Given the description of an element on the screen output the (x, y) to click on. 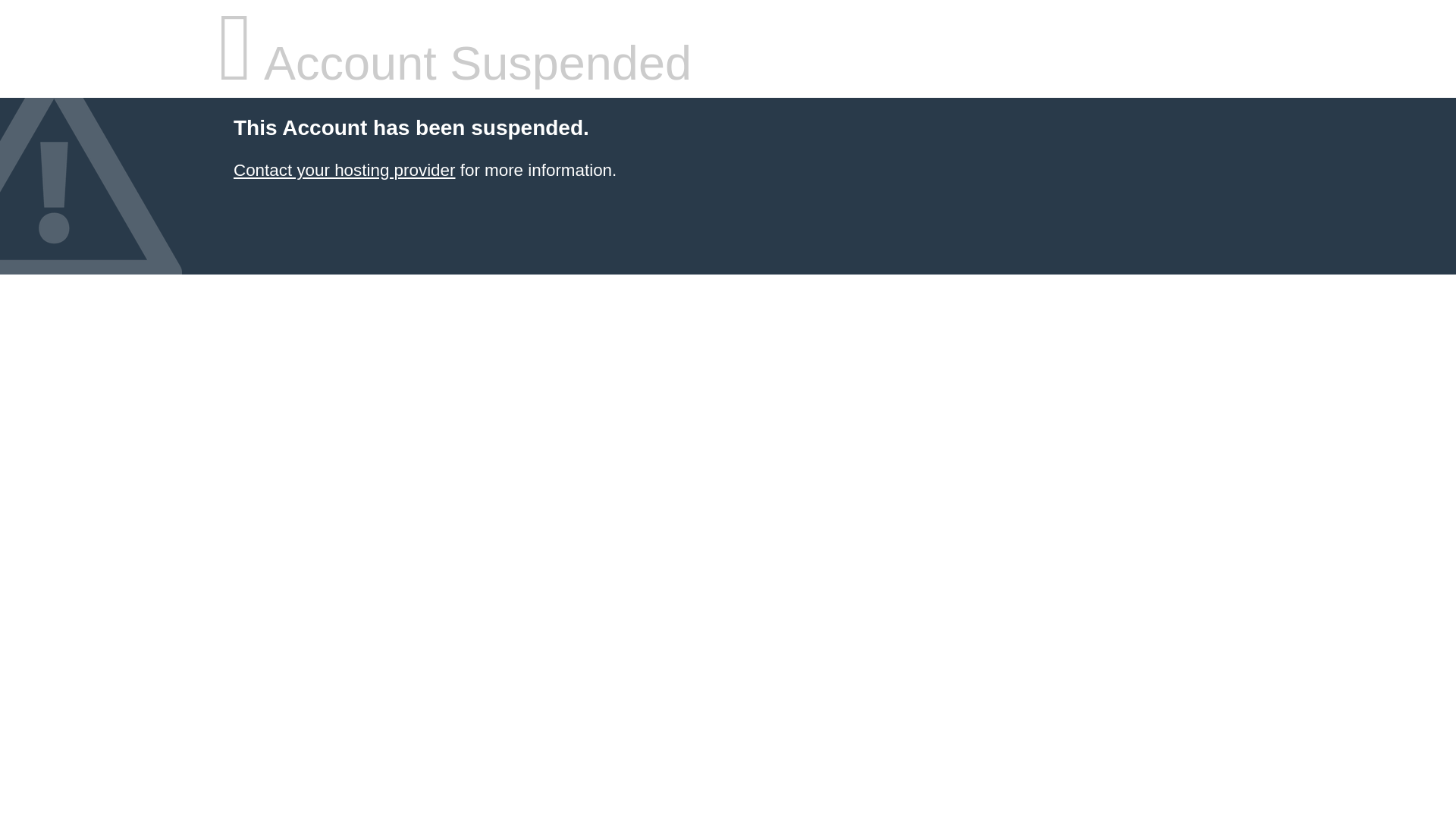
Contact your hosting provider (343, 169)
